Given the description of an element on the screen output the (x, y) to click on. 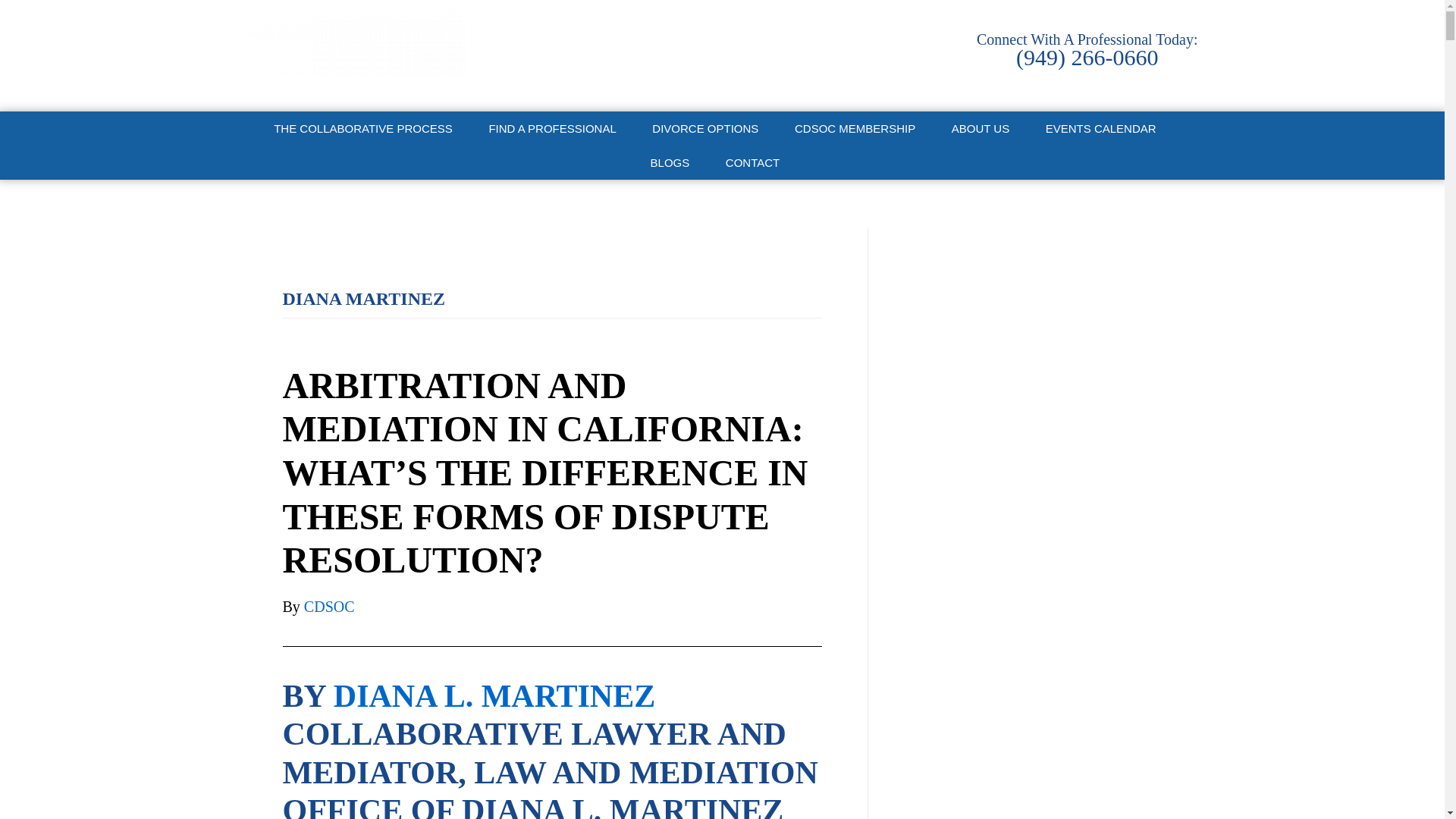
THE COLLABORATIVE PROCESS (370, 128)
CDSOC MEMBERSHIP (862, 128)
CDSOC (349, 55)
DIVORCE OPTIONS (713, 128)
FIND A PROFESSIONAL (559, 128)
